Given the description of an element on the screen output the (x, y) to click on. 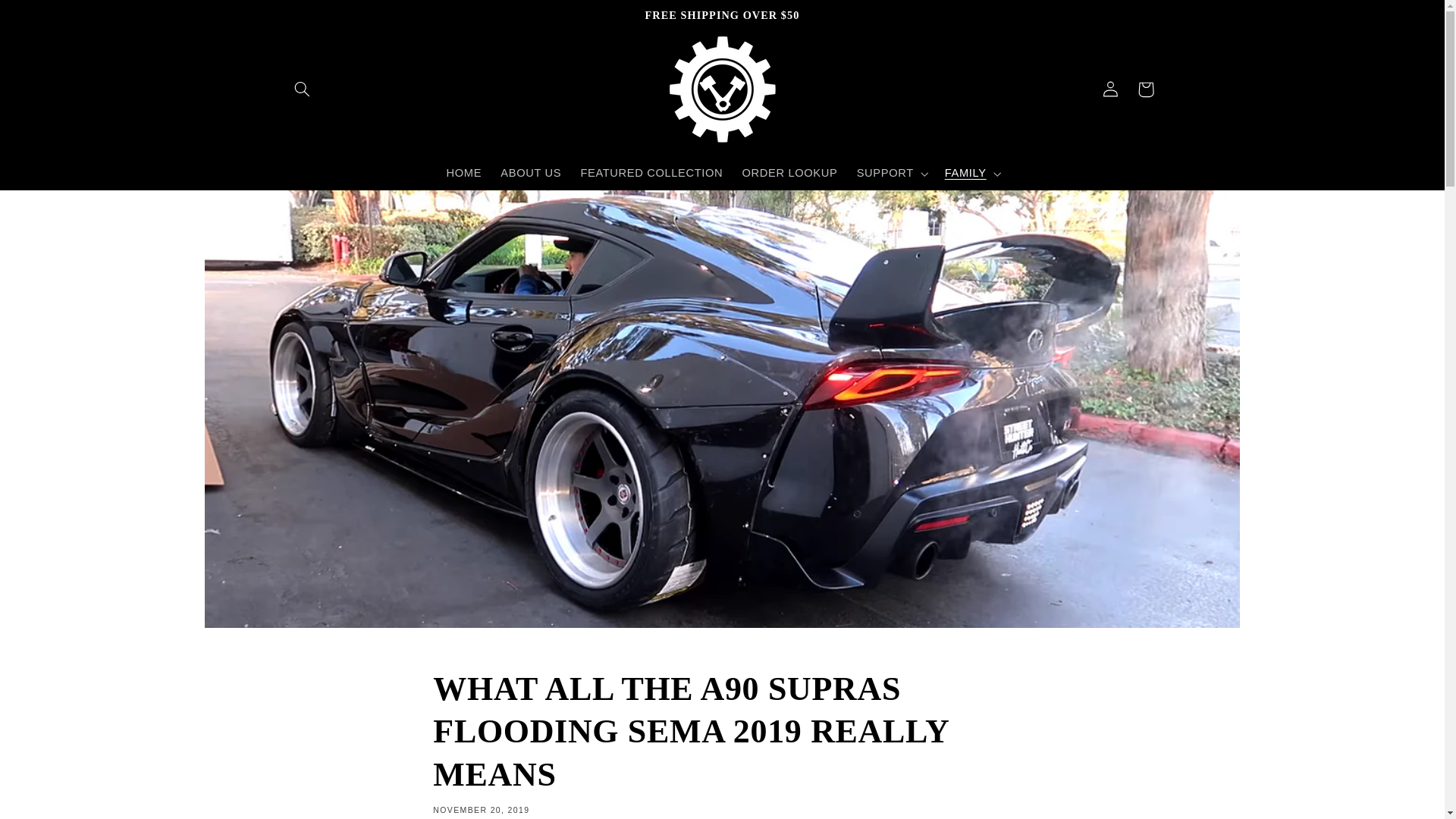
ABOUT US (531, 173)
Log in (1110, 89)
HOME (464, 173)
ORDER LOOKUP (789, 173)
Skip to content (48, 18)
Cart (1145, 89)
FEATURED COLLECTION (651, 173)
